Given the description of an element on the screen output the (x, y) to click on. 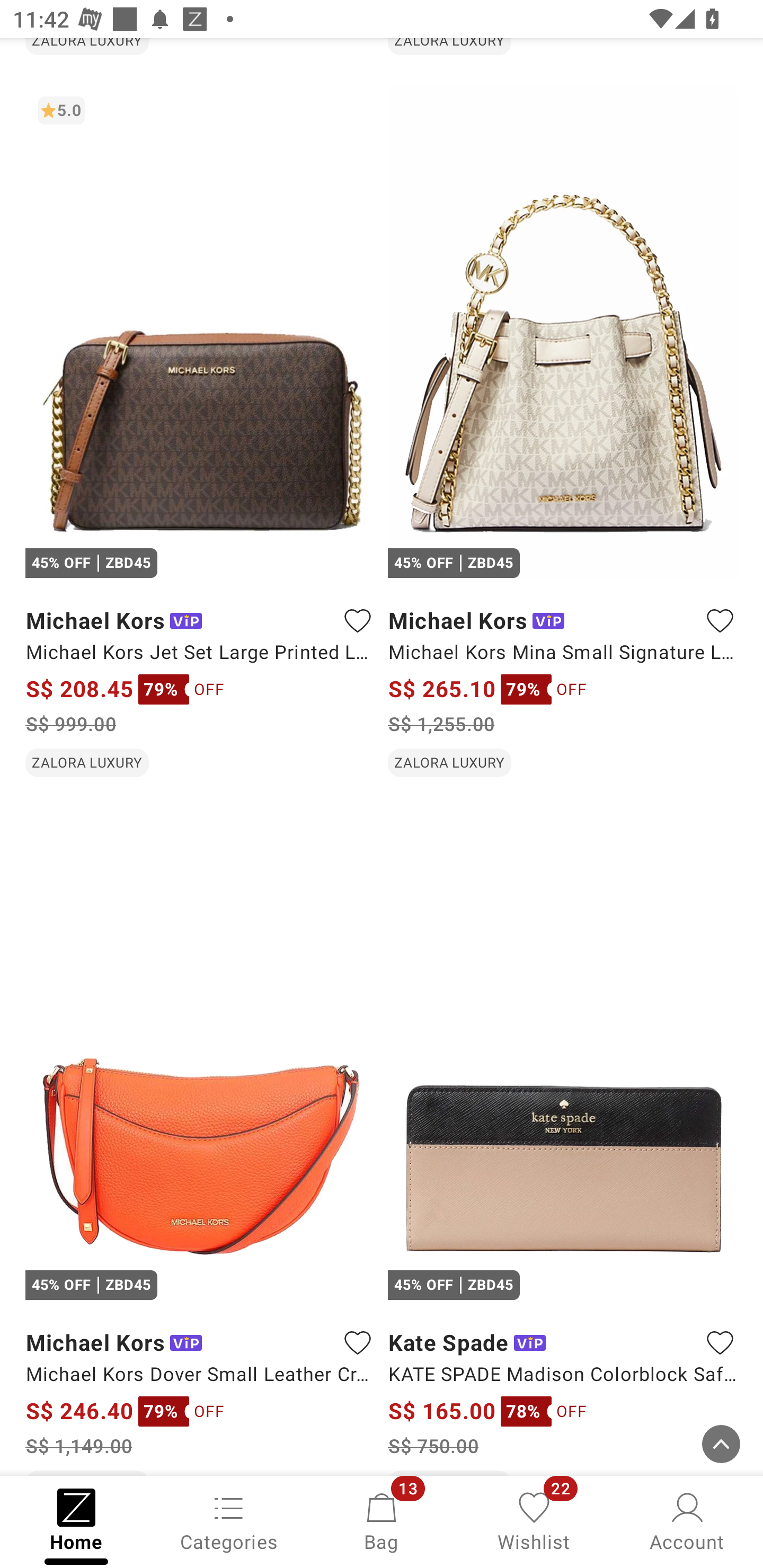
Categories (228, 1519)
Bag, 13 new notifications Bag (381, 1519)
Wishlist, 22 new notifications Wishlist (533, 1519)
Account (686, 1519)
